Given the description of an element on the screen output the (x, y) to click on. 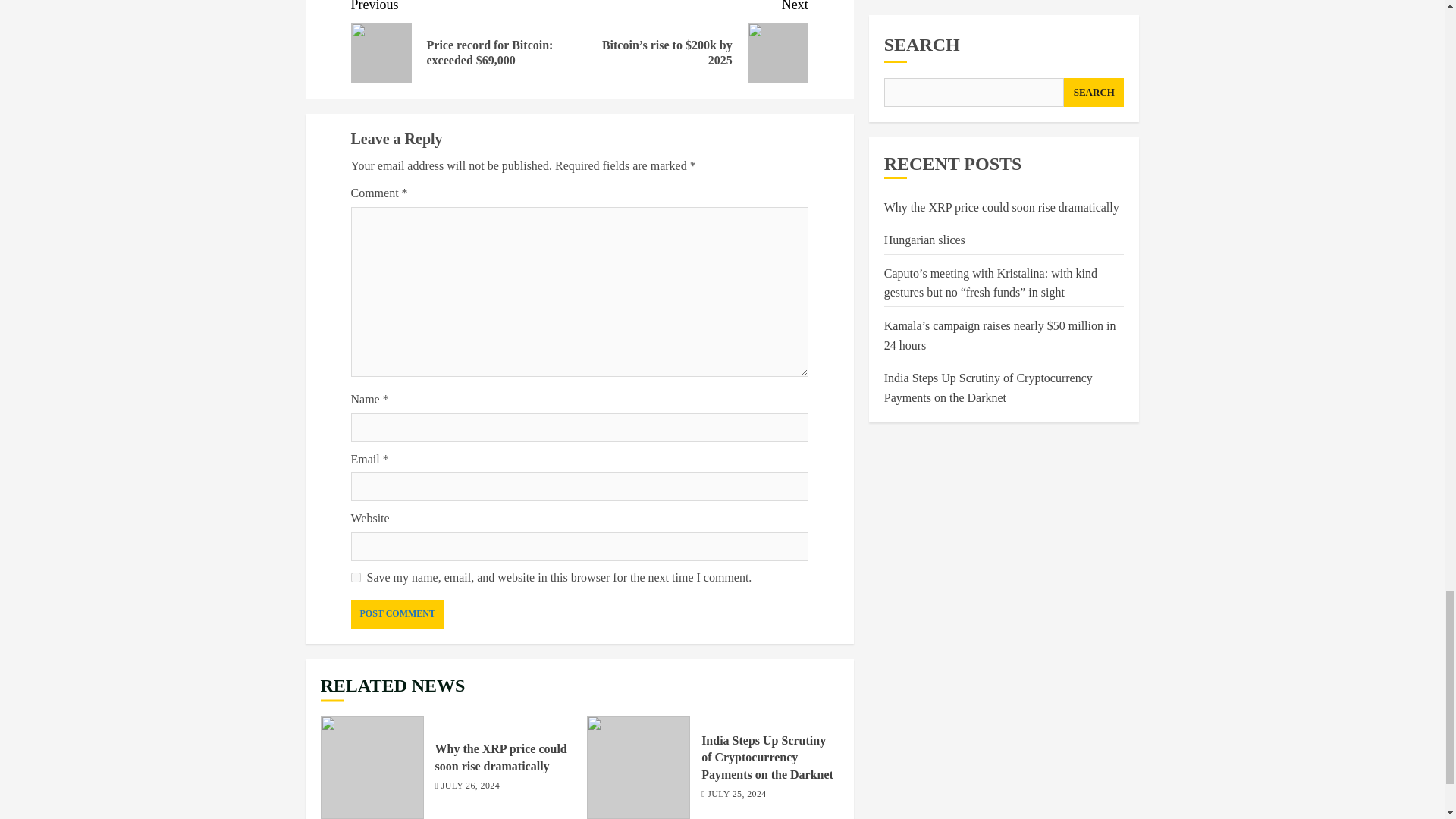
JULY 25, 2024 (736, 794)
yes (354, 577)
JULY 26, 2024 (470, 786)
Post Comment (397, 613)
Why the XRP price could soon rise dramatically (371, 767)
Post Comment (397, 613)
Why the XRP price could soon rise dramatically (501, 757)
